Given the description of an element on the screen output the (x, y) to click on. 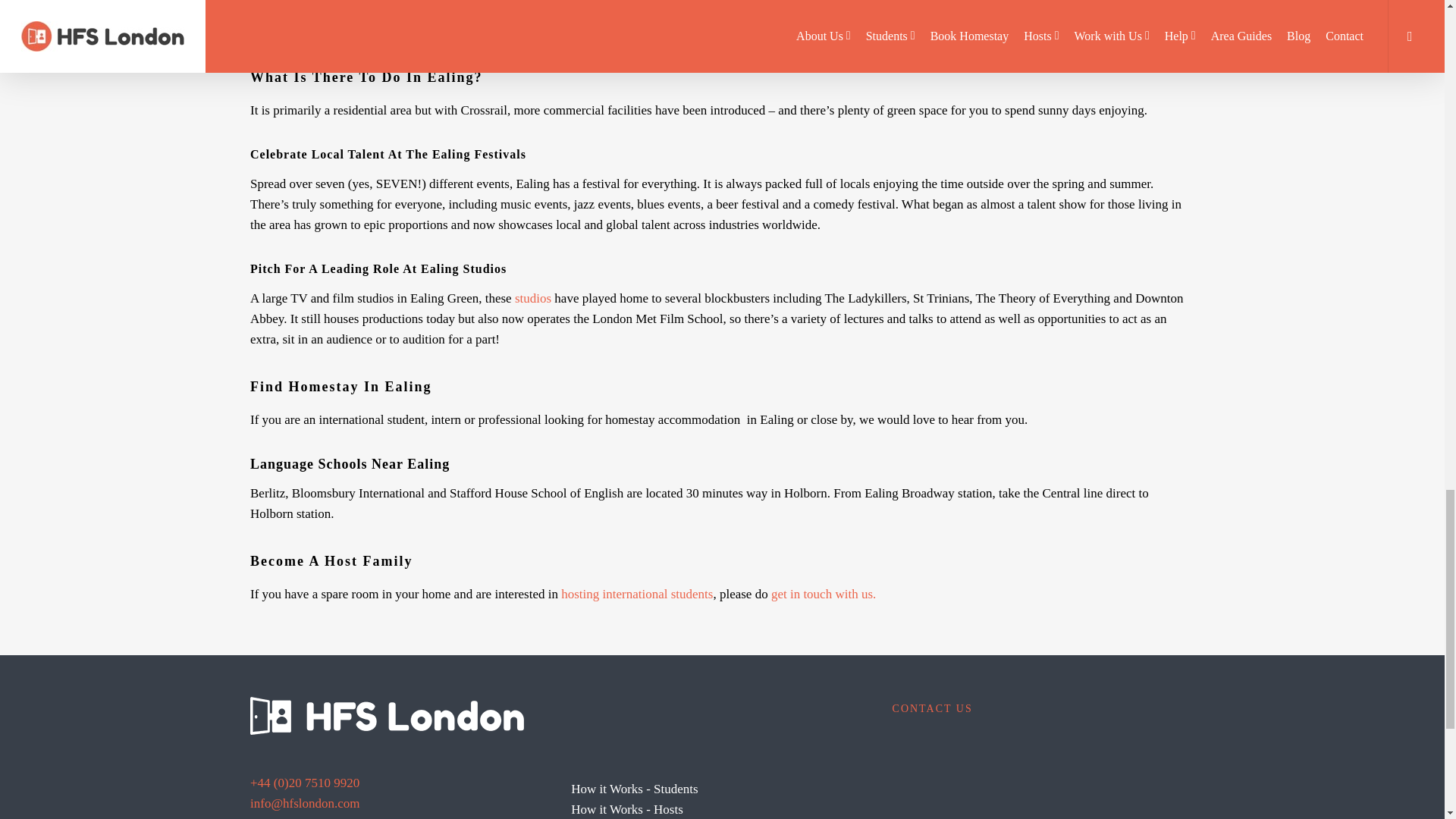
studios (533, 298)
hosting international students (636, 594)
get in touch with us. (823, 594)
